Given the description of an element on the screen output the (x, y) to click on. 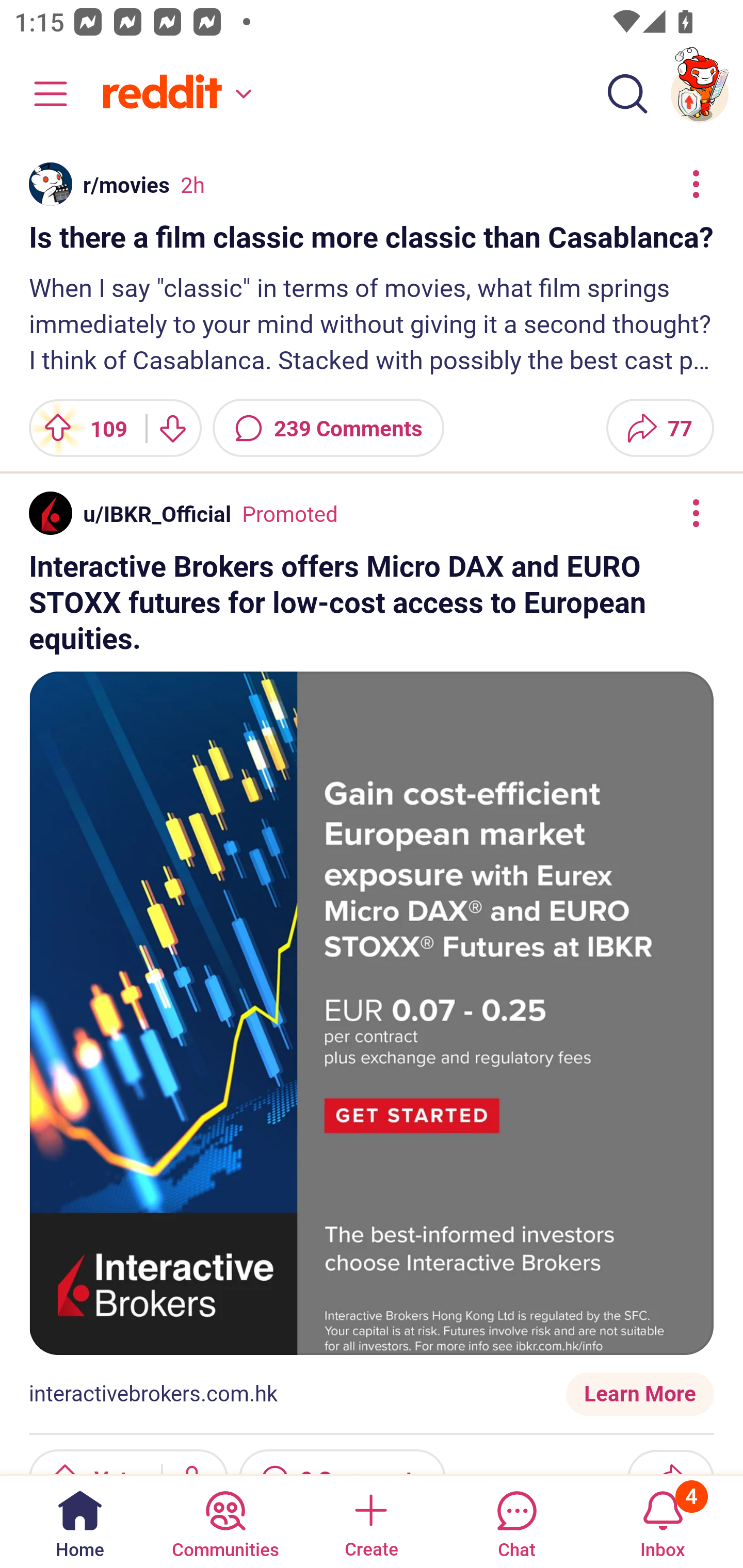
Search (626, 93)
TestAppium002 account (699, 93)
Community menu (41, 94)
Home feed (173, 94)
Home (80, 1520)
Communities (225, 1520)
Create a post Create (370, 1520)
Chat (516, 1520)
Inbox, has 4 notifications 4 Inbox (662, 1520)
